Given the description of an element on the screen output the (x, y) to click on. 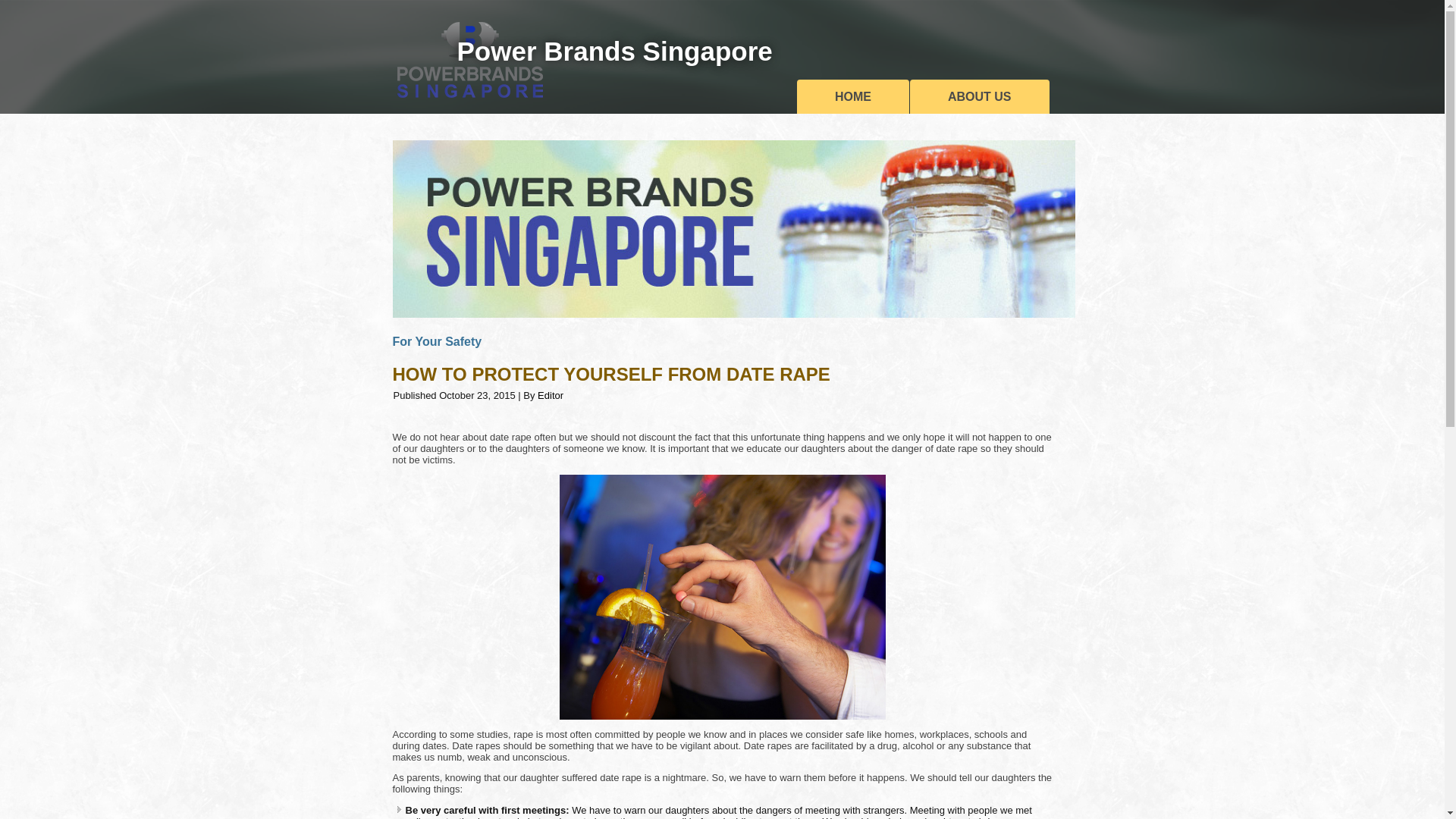
Home (852, 96)
HOW TO PROTECT YOURSELF FROM DATE RAPE (611, 373)
About Us (979, 96)
Editor (550, 395)
HOME (852, 96)
How to Protect Yourself from Date Rape (611, 373)
ABOUT US (979, 96)
View all posts by Editor (550, 395)
Power Brands Singapore (615, 51)
7:57 am (477, 395)
